Given the description of an element on the screen output the (x, y) to click on. 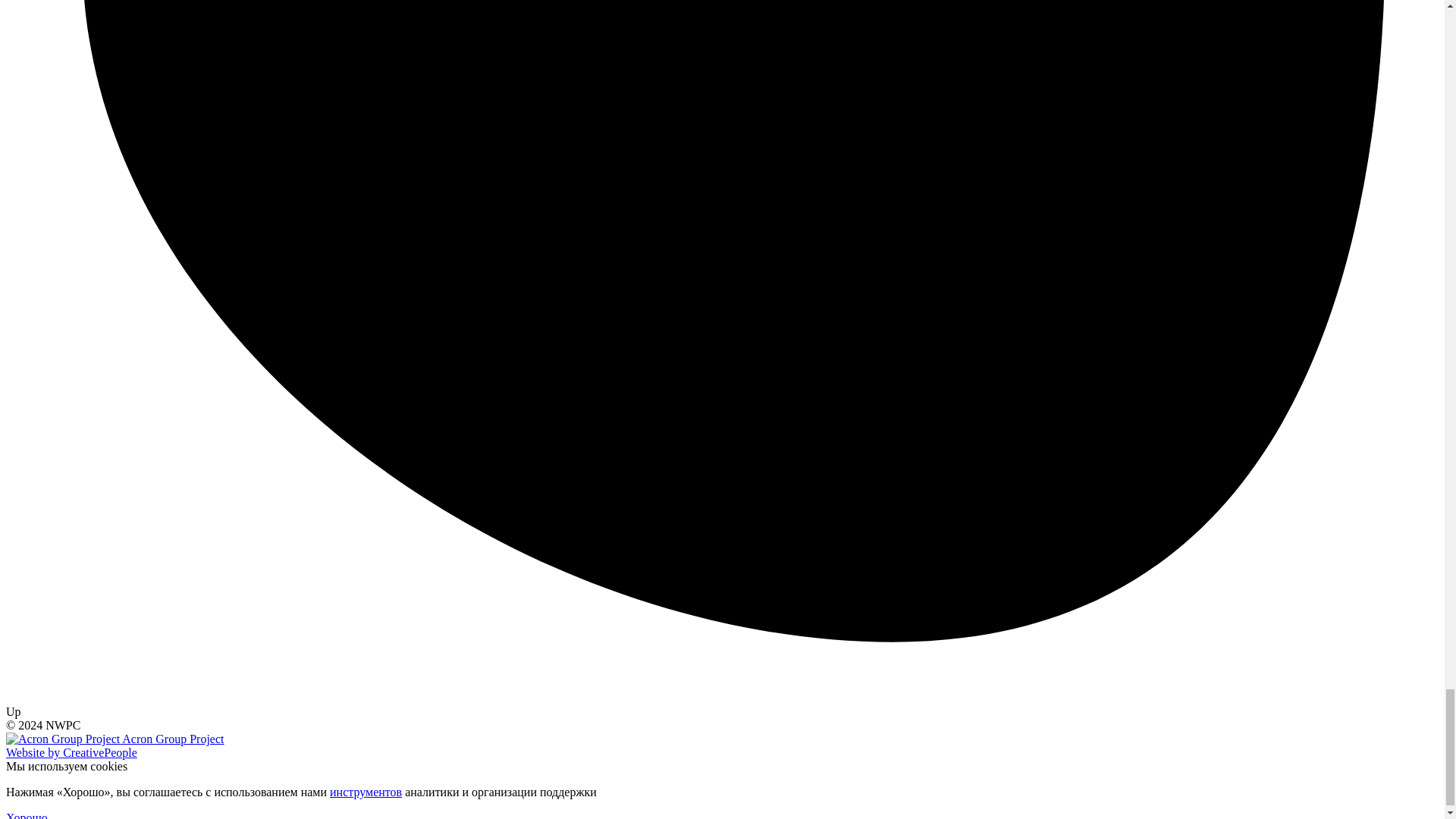
Website by CreativePeople (70, 752)
Acron Group Project (114, 738)
